Given the description of an element on the screen output the (x, y) to click on. 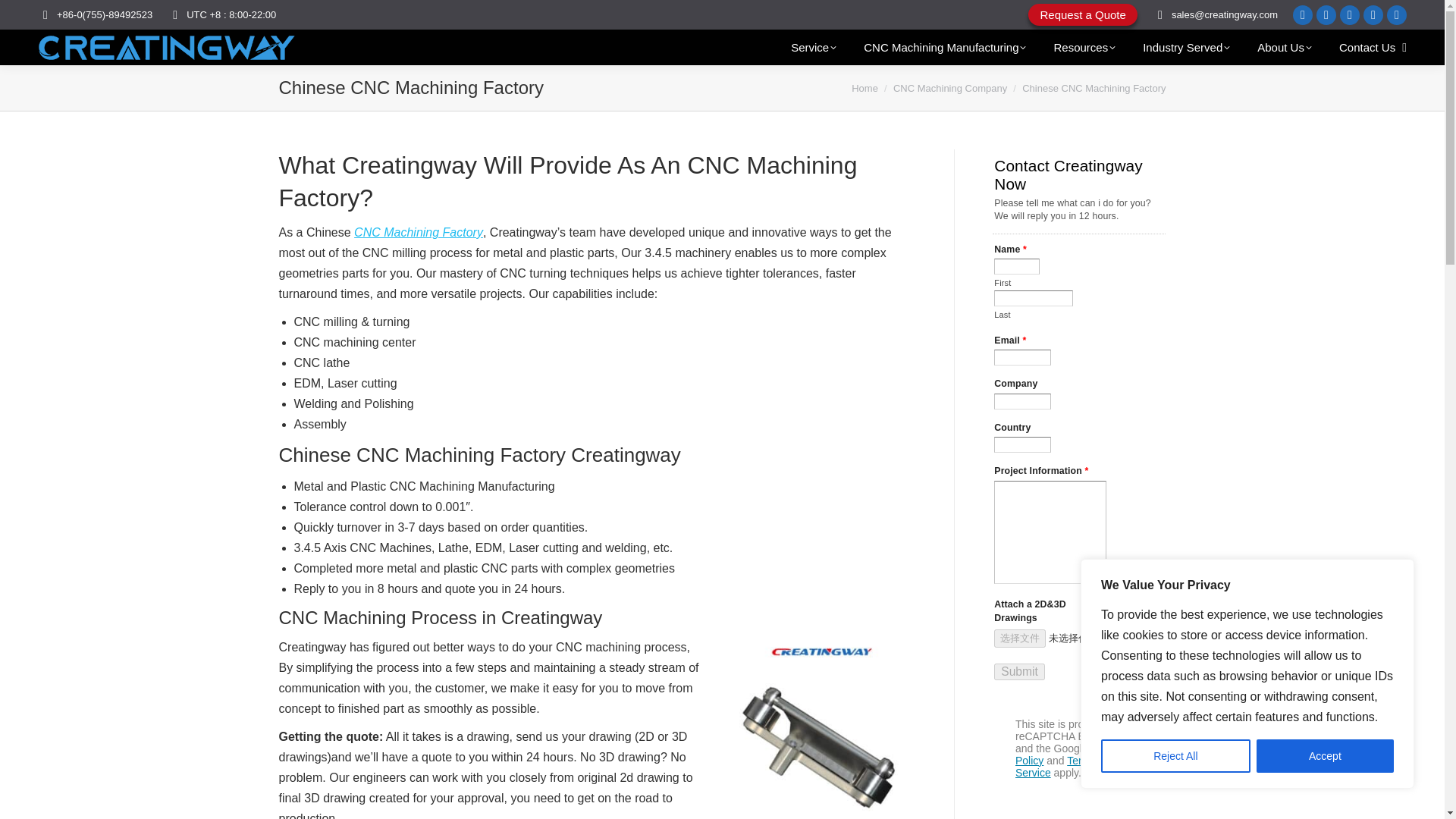
Instagram page opens in new window (1372, 14)
Resources (1083, 46)
Instagram page opens in new window (1372, 14)
Twitter page opens in new window (1349, 14)
Facebook page opens in new window (1326, 14)
CNC Machining Manufacturing (944, 46)
Whatsapp page opens in new window (1396, 14)
Linkedin page opens in new window (1302, 14)
Facebook page opens in new window (1326, 14)
Reject All (1175, 756)
Service (813, 46)
Request a Quote (1082, 14)
Linkedin page opens in new window (1302, 14)
Accept (1324, 756)
Whatsapp page opens in new window (1396, 14)
